Given the description of an element on the screen output the (x, y) to click on. 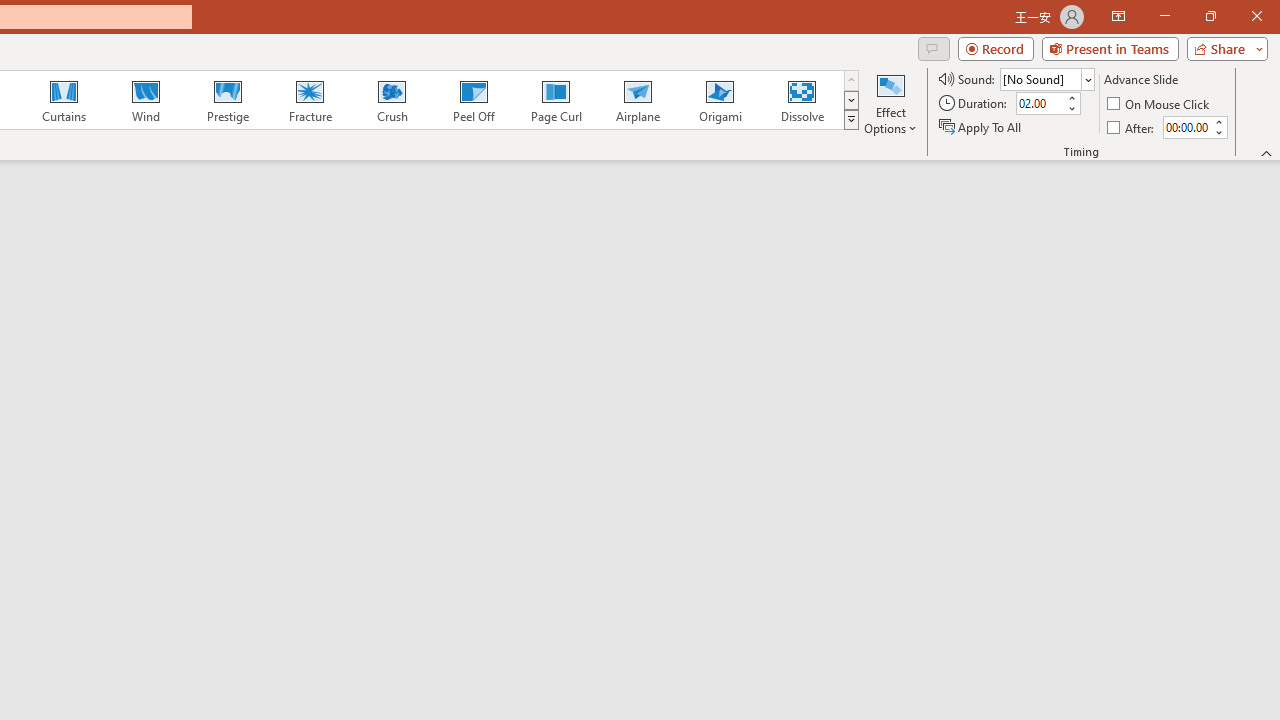
Prestige (227, 100)
Page Curl (555, 100)
Origami (719, 100)
Curtains (63, 100)
Dissolve (802, 100)
Sound (1046, 78)
Crush (391, 100)
Fracture (309, 100)
